Given the description of an element on the screen output the (x, y) to click on. 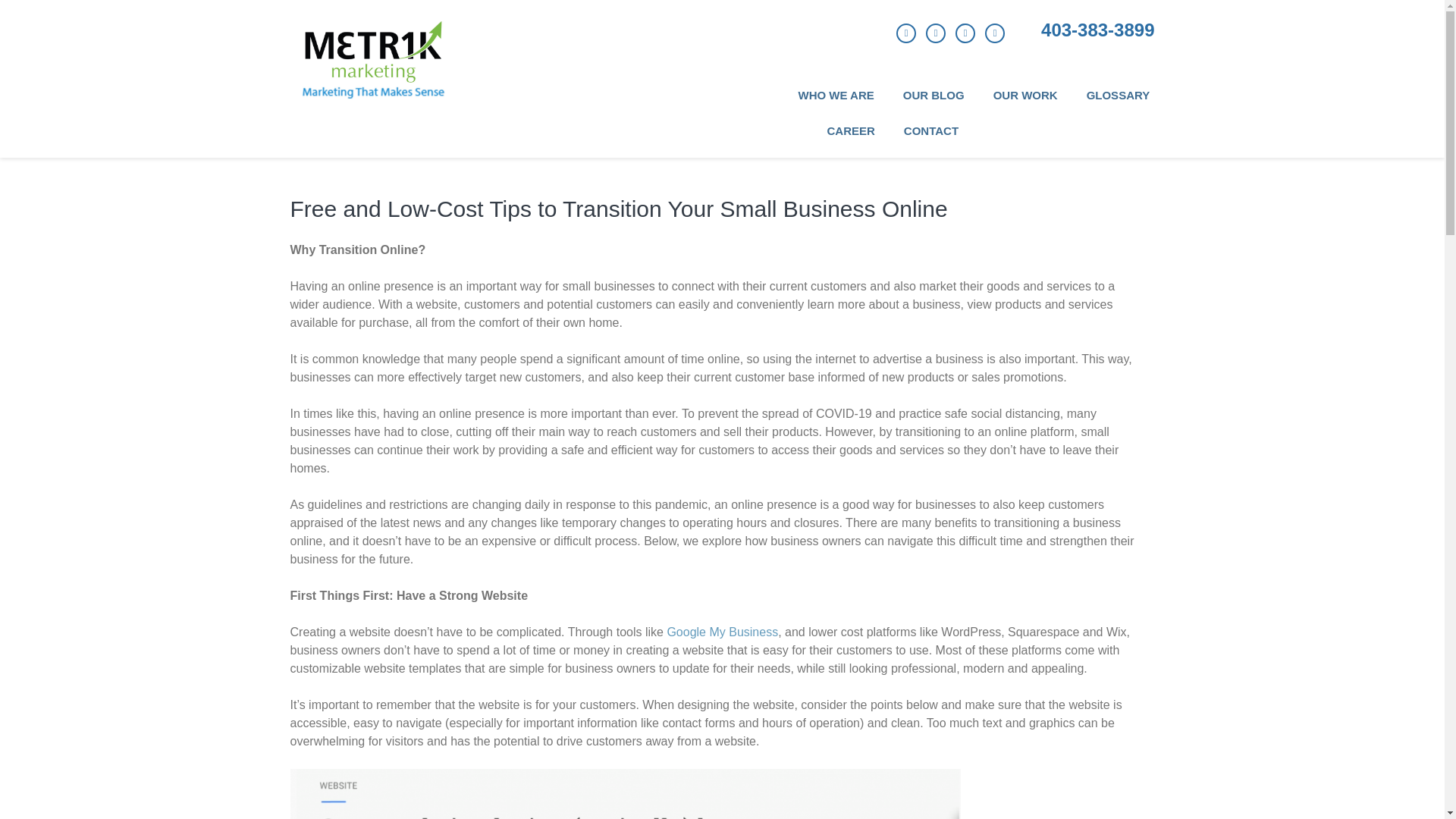
CONTACT (931, 140)
Google My Business (721, 631)
LinkedIn (965, 33)
403-383-3899 (1097, 30)
Facebook (905, 33)
OUR WORK (1025, 104)
Instagram (994, 33)
CAREER (851, 140)
Twitter (935, 33)
OUR BLOG (932, 104)
WHO WE ARE (835, 104)
GLOSSARY (1118, 104)
